Given the description of an element on the screen output the (x, y) to click on. 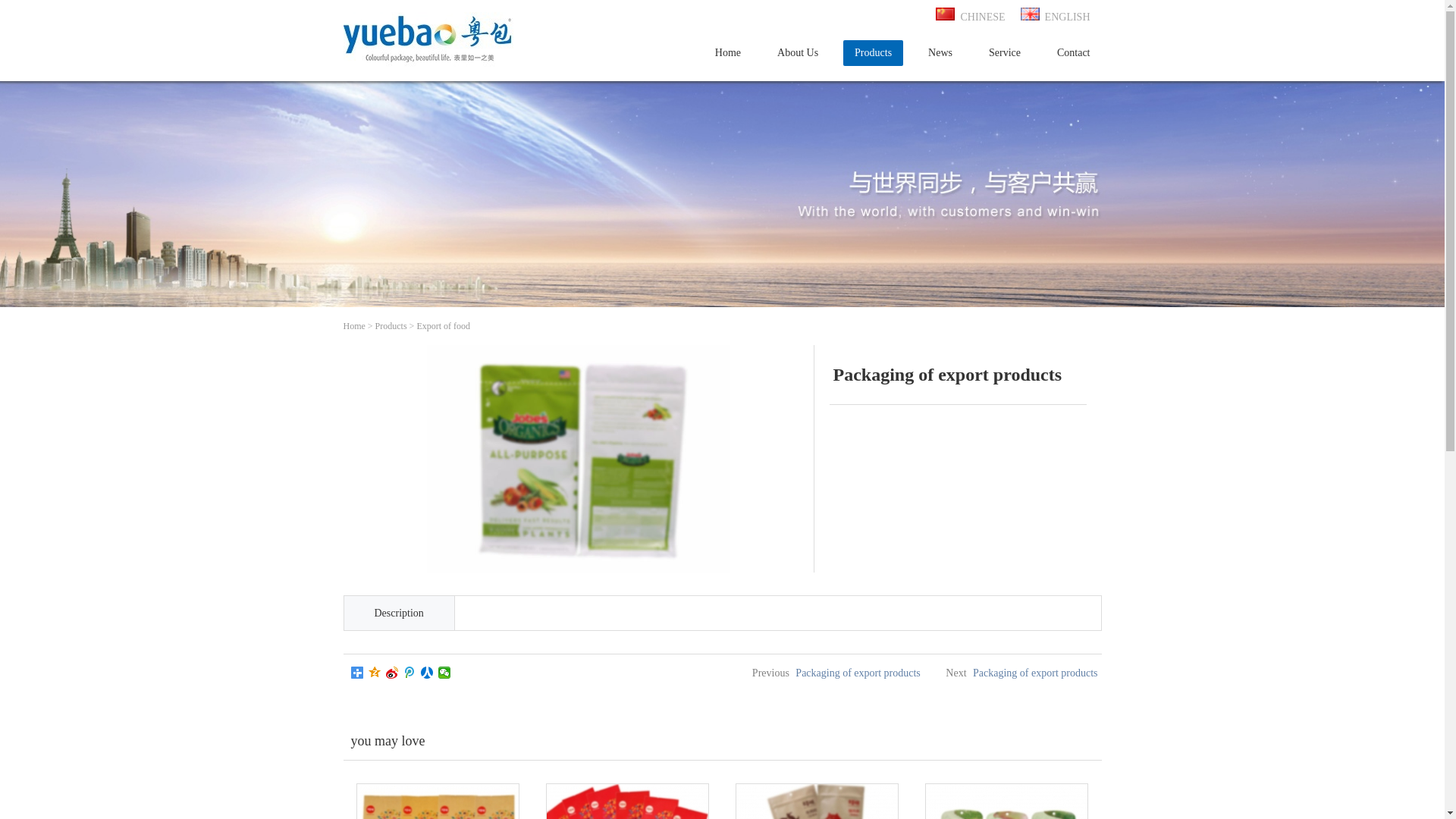
Zhejiang Yuehai new packaging materials Co., Ltd Element type: hover (429, 37)
Packaging of export products Element type: text (1034, 672)
Export of food Element type: text (443, 325)
  ENGLISH Element type: text (1055, 16)
About Us Element type: text (797, 52)
News Element type: text (939, 52)
Contact Element type: text (1073, 52)
Zhejiang Yuehai new packaging materials Co., Ltd Element type: hover (429, 72)
Description Element type: text (399, 613)
Home Element type: text (353, 325)
Service Element type: text (1004, 52)
  CHINESE Element type: text (969, 16)
Products Element type: text (873, 52)
Home Element type: text (727, 52)
Products Element type: text (391, 325)
Packaging of export products Element type: text (857, 672)
